Given the description of an element on the screen output the (x, y) to click on. 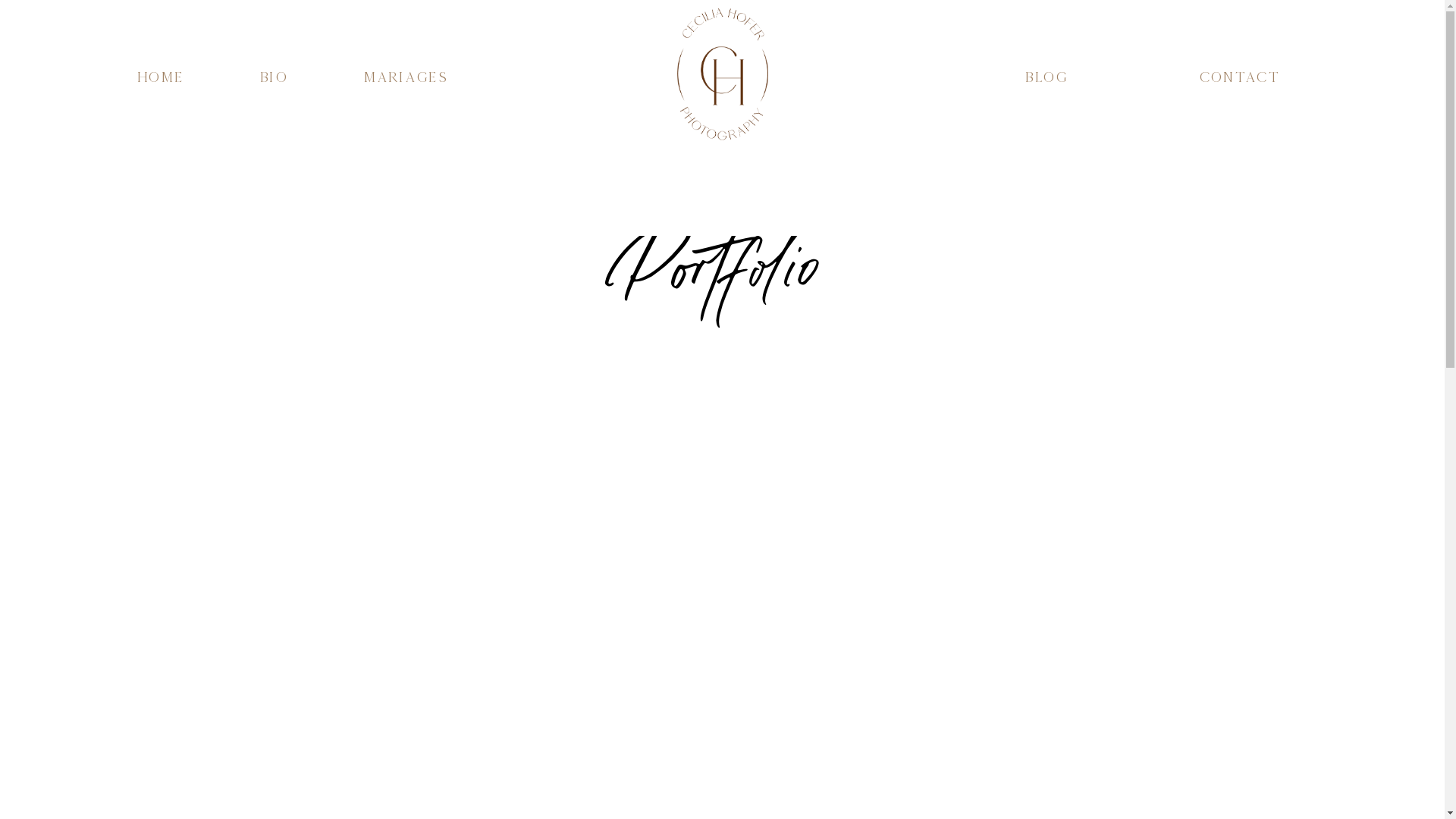
Contact Element type: text (1239, 89)
Blog Element type: text (1045, 89)
Home Element type: text (160, 89)
Bio Element type: text (273, 89)
Mariages Element type: text (405, 89)
